Given the description of an element on the screen output the (x, y) to click on. 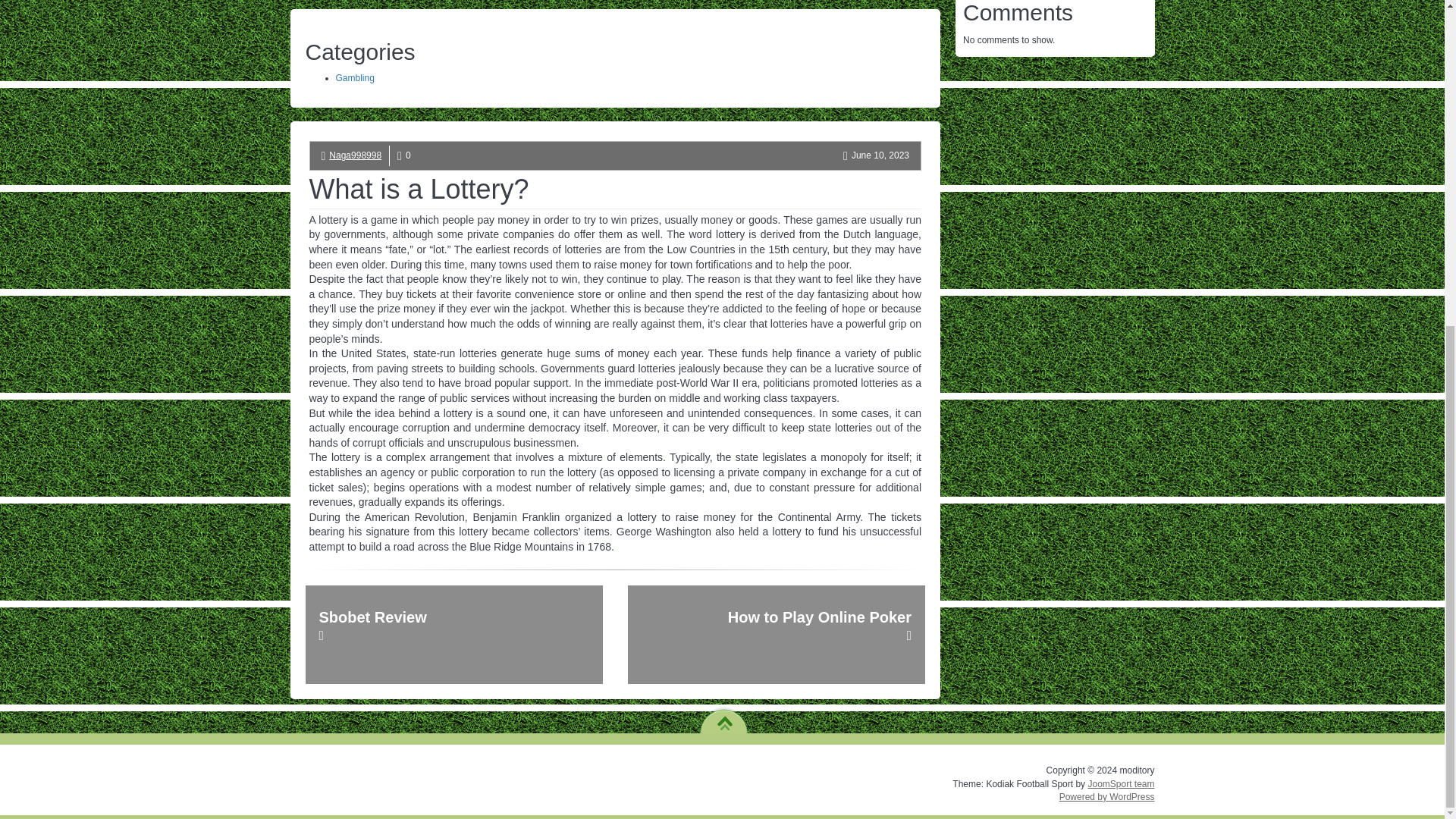
Naga998998 (355, 154)
How to Play Online Poker (775, 634)
Sbobet Review (453, 634)
 The Best WordPress Sport Plugin for your league and club  (1120, 783)
Gambling (354, 77)
